Given the description of an element on the screen output the (x, y) to click on. 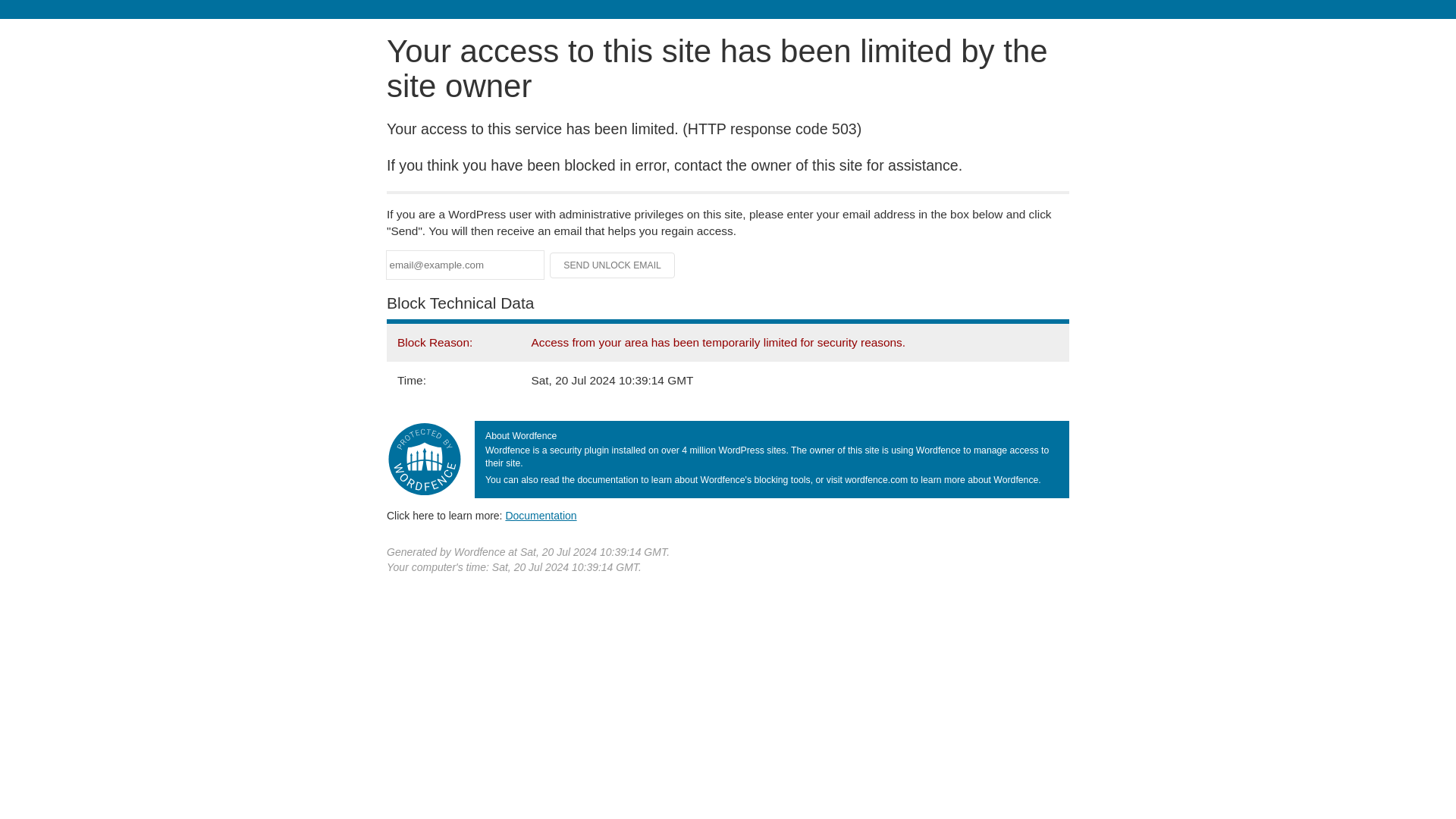
Send Unlock Email (612, 265)
Documentation (540, 515)
Send Unlock Email (612, 265)
